Given the description of an element on the screen output the (x, y) to click on. 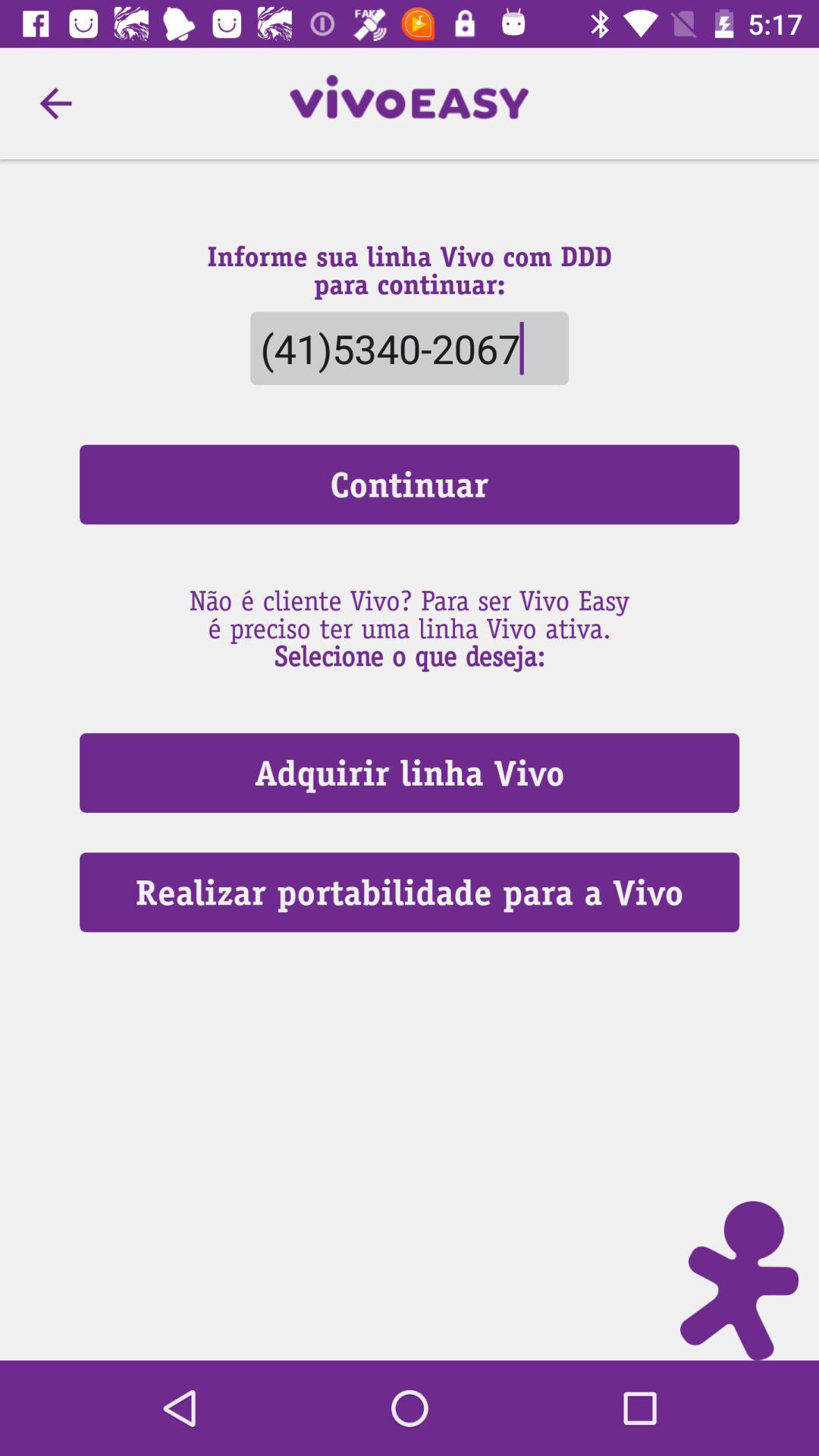
press the (41)5340-2067 item (409, 348)
